Given the description of an element on the screen output the (x, y) to click on. 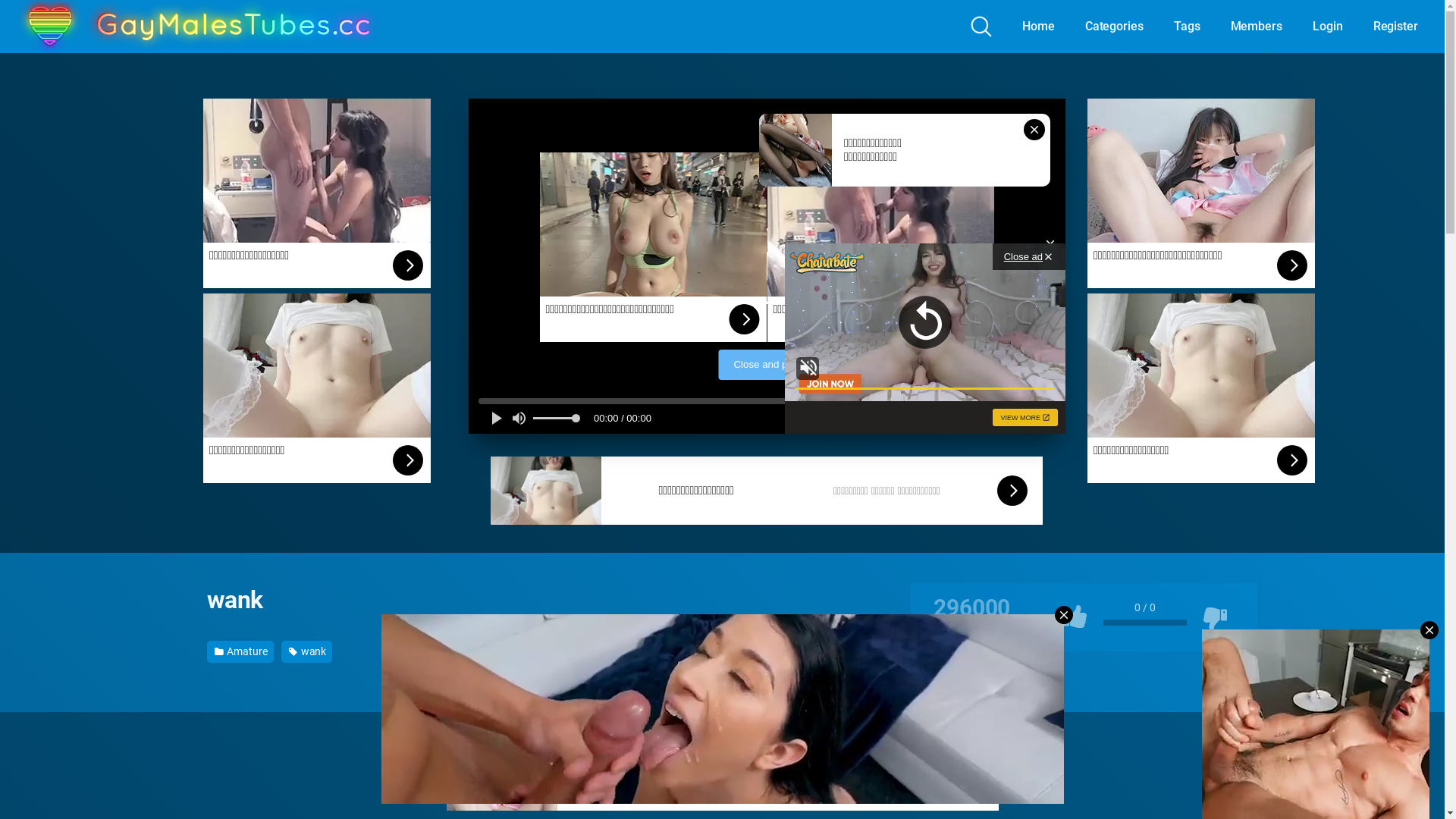
Amature Element type: text (239, 651)
Categories Element type: text (1114, 26)
Register Element type: text (1395, 26)
Home Element type: text (1038, 26)
wank Element type: text (306, 651)
Tags Element type: text (1186, 26)
I like this Element type: hover (1075, 622)
Members Element type: text (1256, 26)
I dislike this Element type: hover (1213, 622)
Login Element type: text (1327, 26)
